Given the description of an element on the screen output the (x, y) to click on. 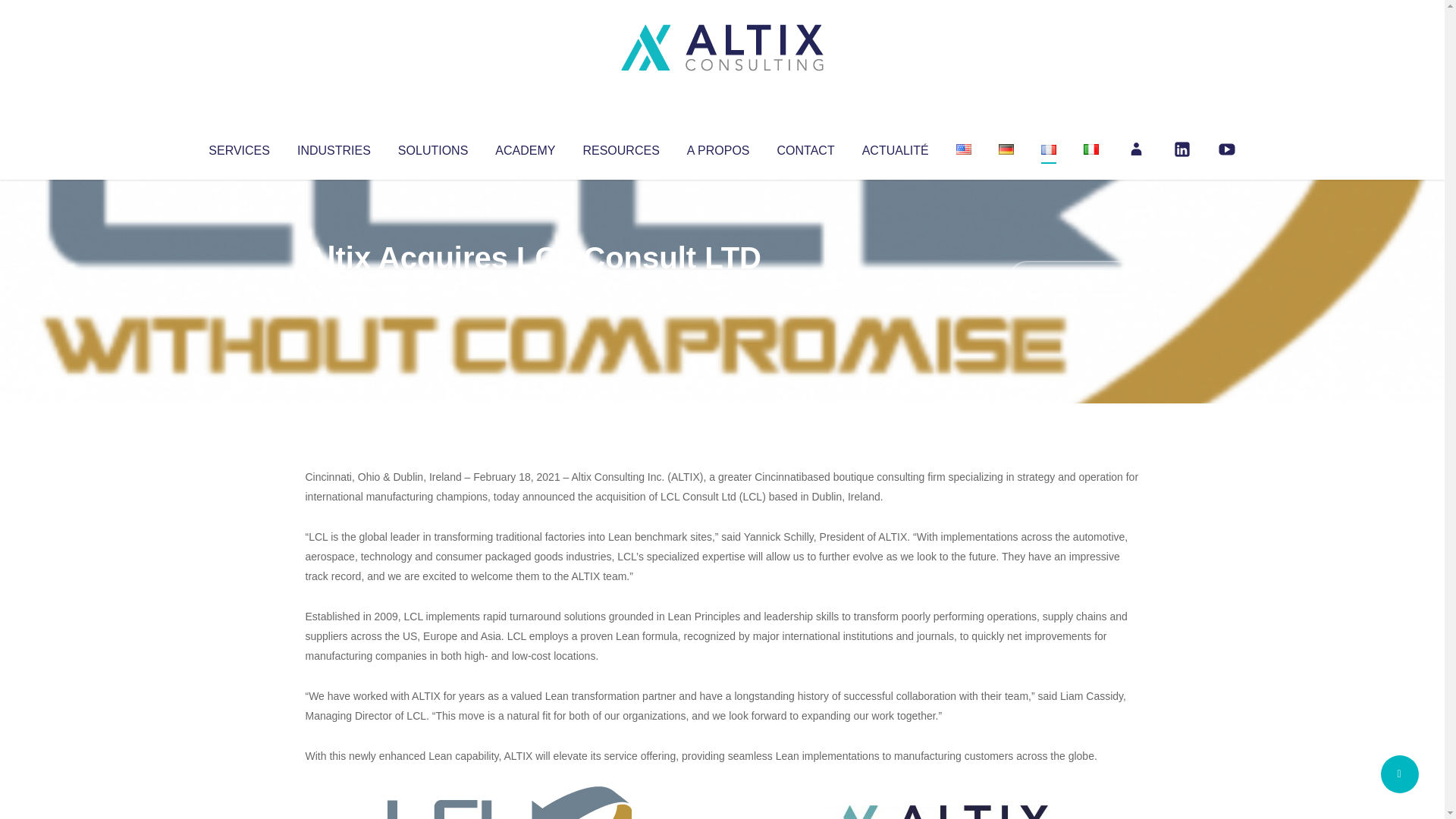
Altix (333, 287)
Articles par Altix (333, 287)
A PROPOS (718, 146)
Uncategorized (530, 287)
SERVICES (238, 146)
ACADEMY (524, 146)
INDUSTRIES (334, 146)
No Comments (1073, 278)
RESOURCES (620, 146)
SOLUTIONS (432, 146)
